Given the description of an element on the screen output the (x, y) to click on. 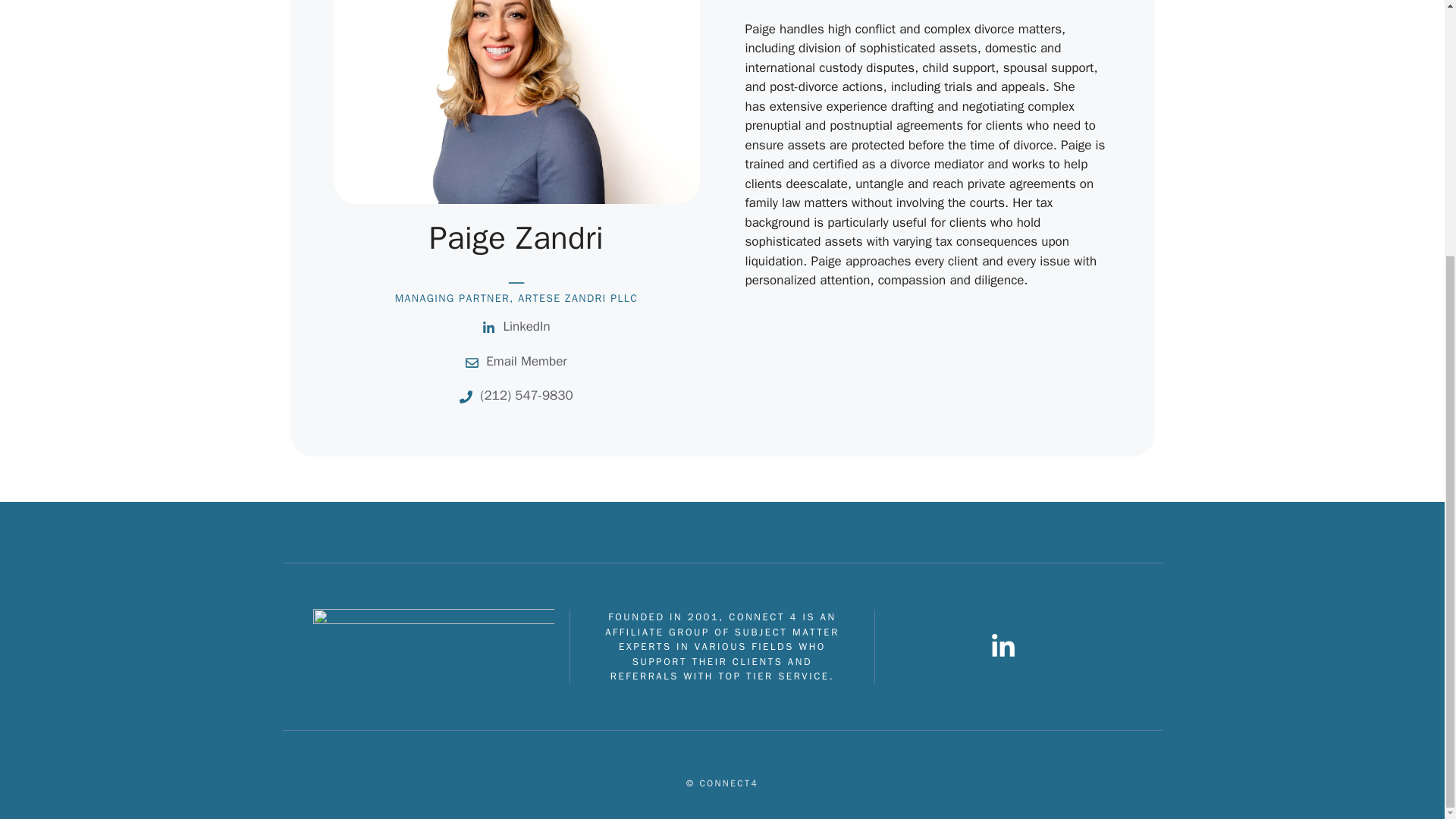
LinkedIn (526, 326)
Email Member (526, 360)
c4white (433, 647)
